Given the description of an element on the screen output the (x, y) to click on. 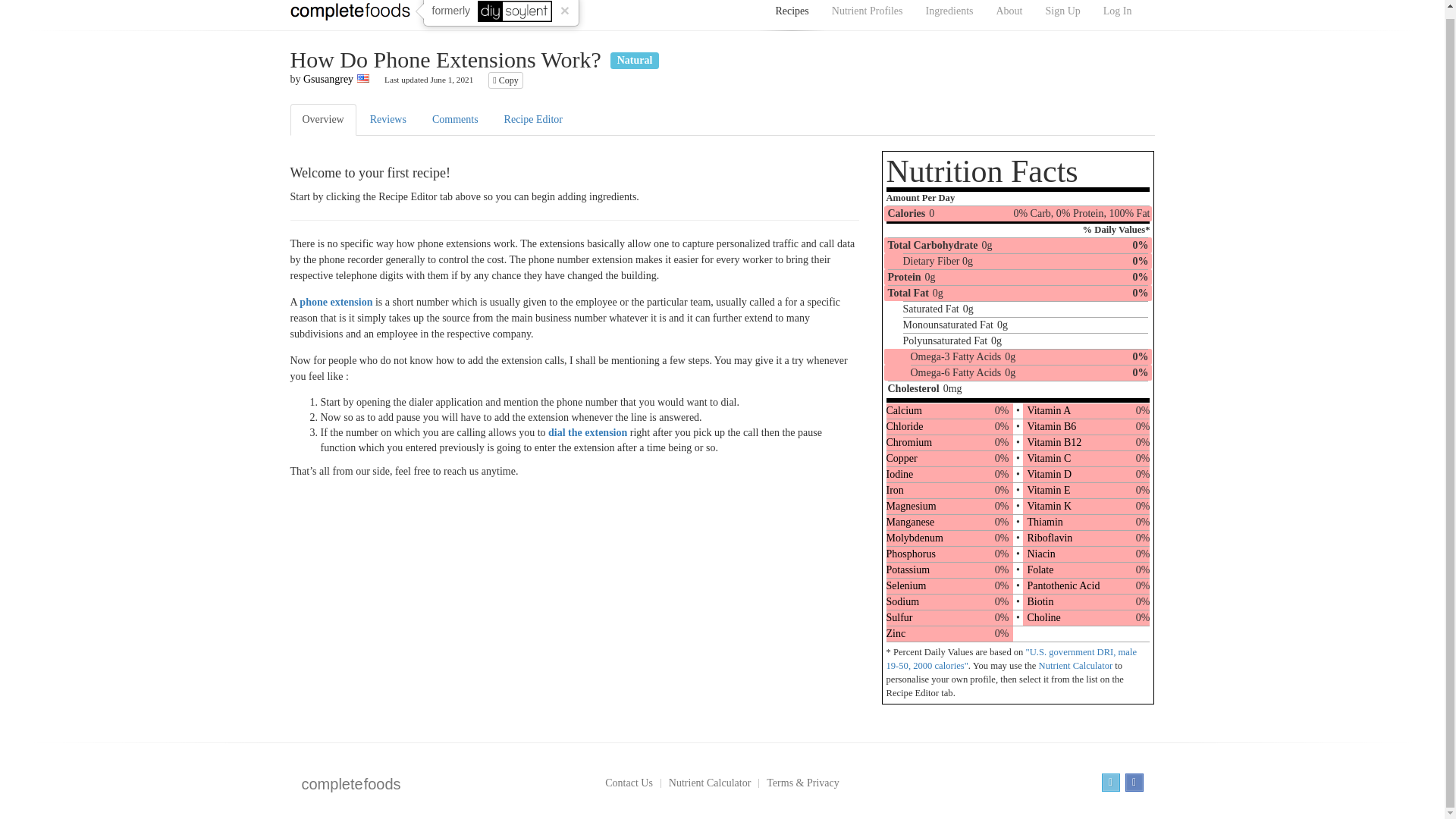
Log In (1117, 13)
Gsusangrey (327, 79)
Complete Foods (349, 14)
dial the extension (587, 432)
Riboflavin (1048, 537)
Iodine (898, 473)
Chloride (904, 426)
Iron (893, 490)
Vitamin B12 (1053, 441)
Selenium (905, 585)
Vitamin K (1048, 505)
Molybdenum (913, 537)
Magnesium (910, 505)
Recipe Editor (533, 119)
Copper (901, 458)
